Given the description of an element on the screen output the (x, y) to click on. 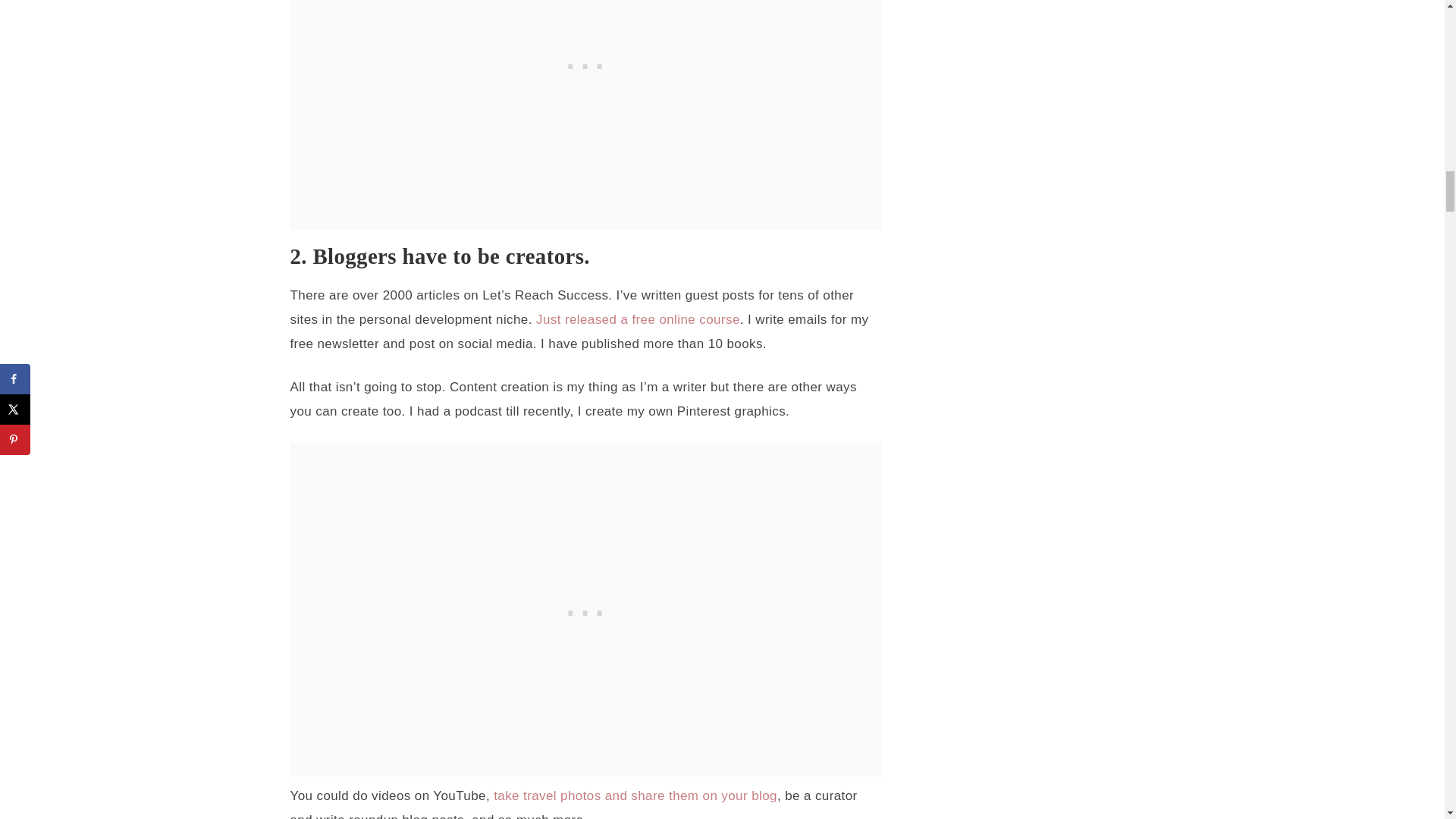
take travel photos and share them on your blog (635, 795)
Just released a free online course (637, 319)
